Given the description of an element on the screen output the (x, y) to click on. 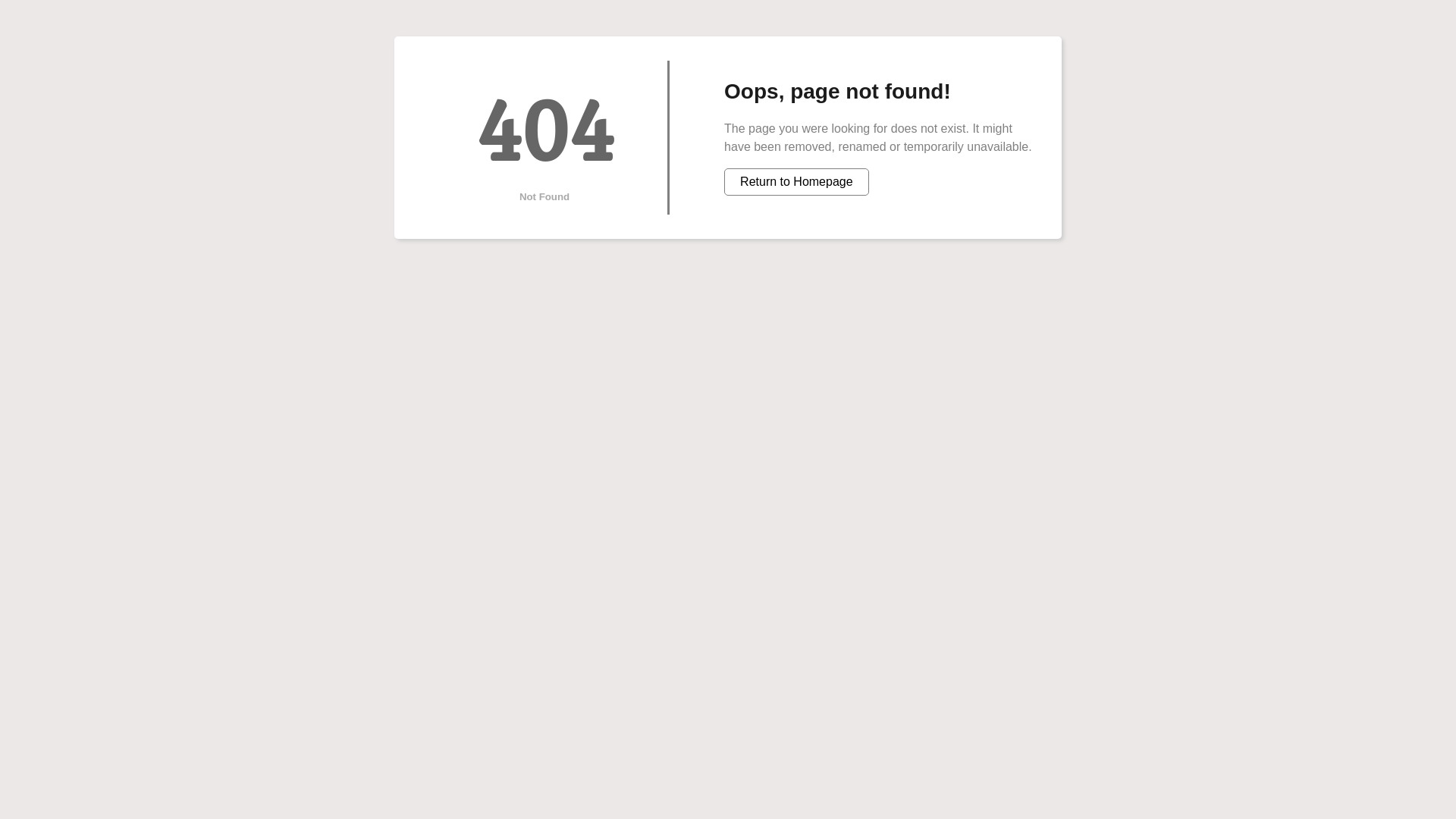
Return to Homepage Element type: text (796, 181)
